Given the description of an element on the screen output the (x, y) to click on. 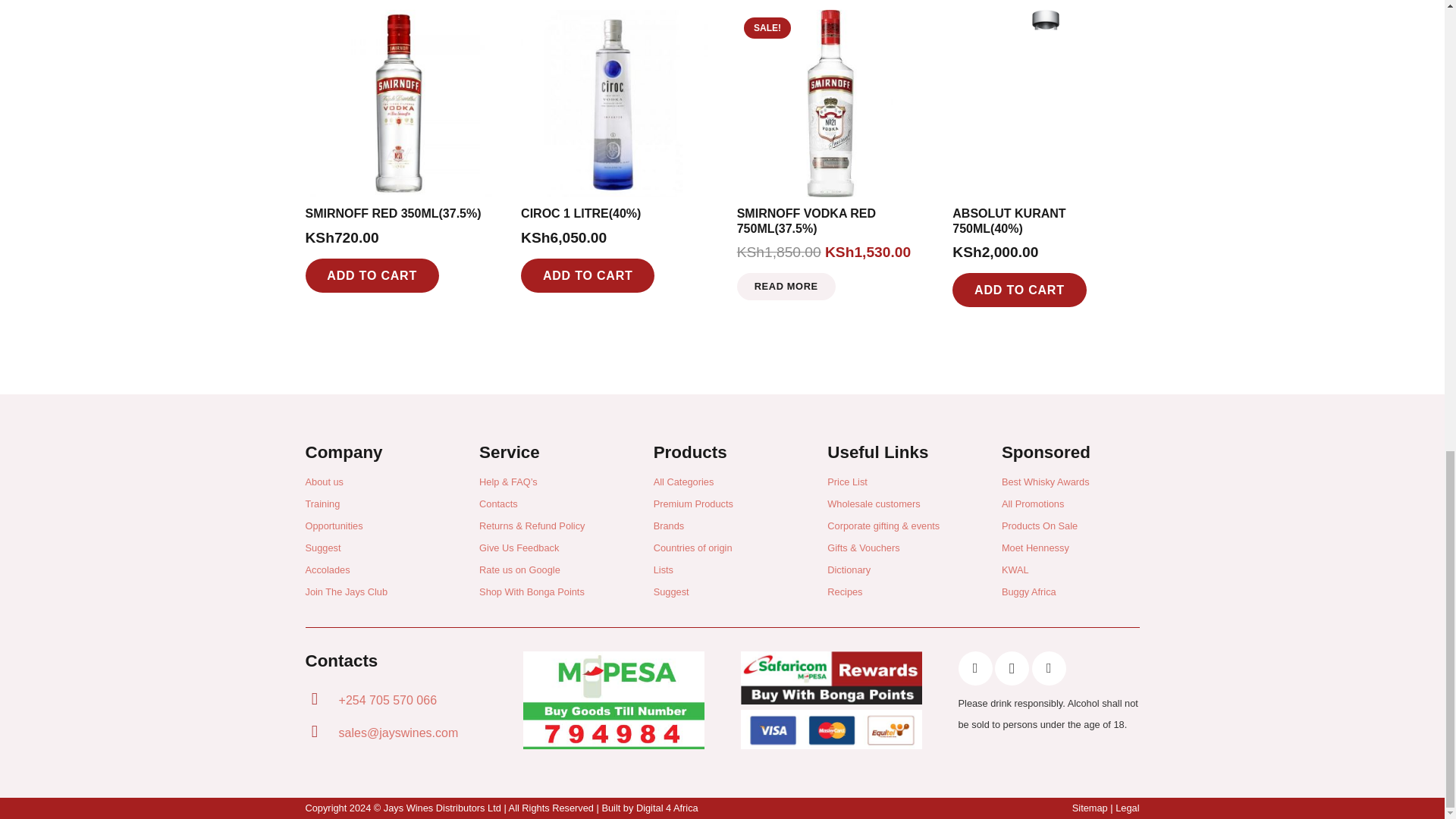
Twitter (1048, 668)
Facebook (975, 668)
Instagram (1011, 668)
